Given the description of an element on the screen output the (x, y) to click on. 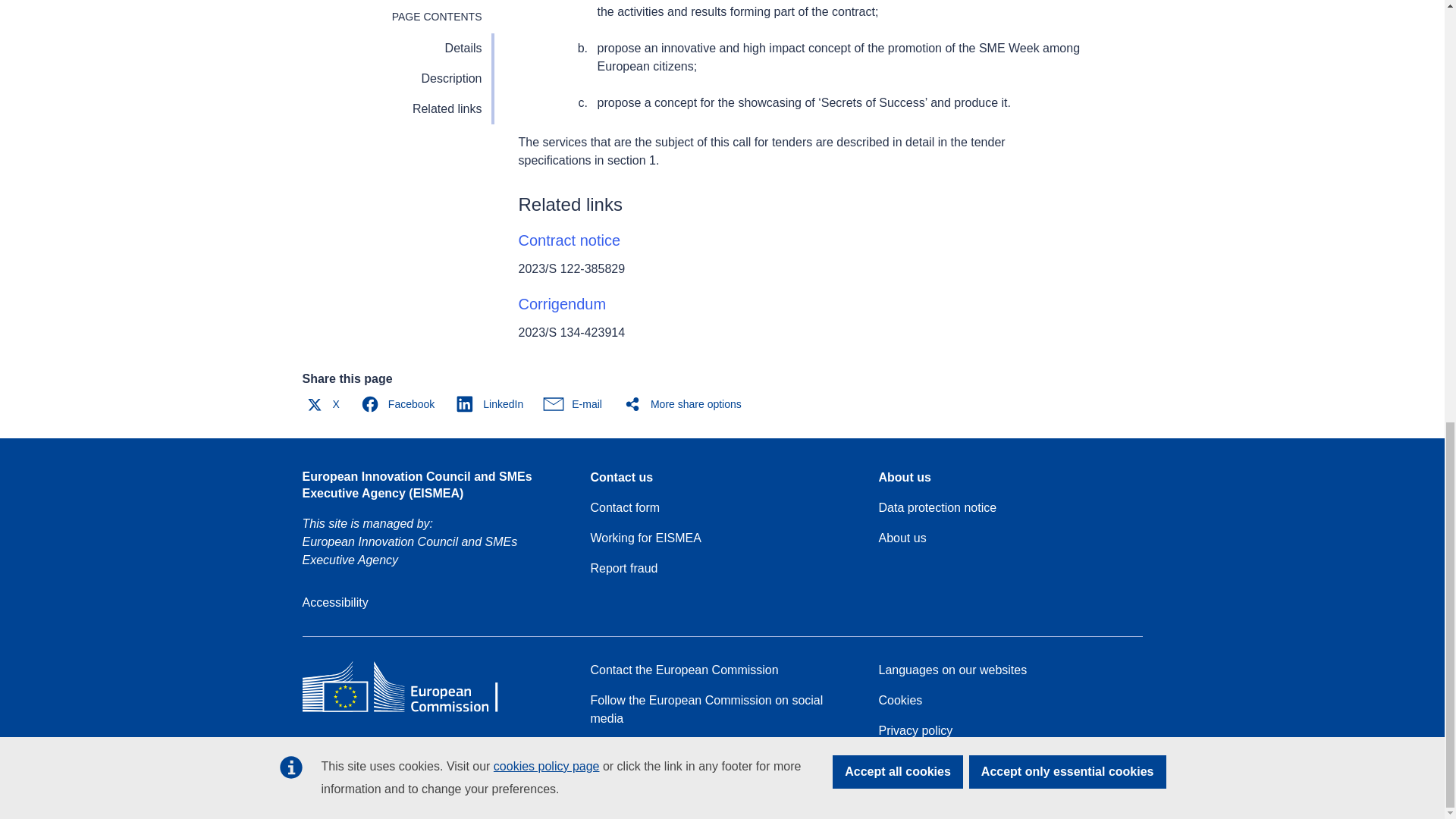
European Commission (411, 711)
Contract notice (569, 239)
Corrigendum (562, 303)
